Given the description of an element on the screen output the (x, y) to click on. 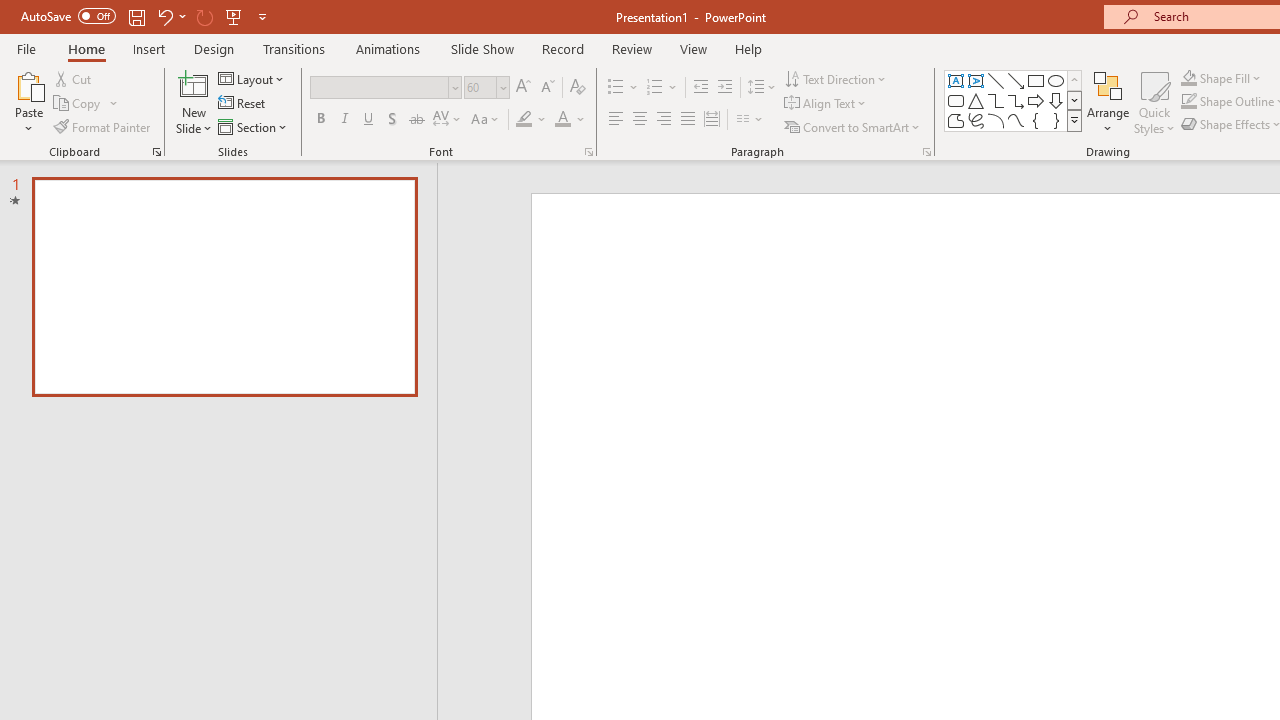
Paste (28, 102)
Paragraph... (926, 151)
New Slide (193, 102)
Font Size (480, 87)
Left Brace (1035, 120)
Shadow (392, 119)
Bullets (616, 87)
Numbering (661, 87)
